Given the description of an element on the screen output the (x, y) to click on. 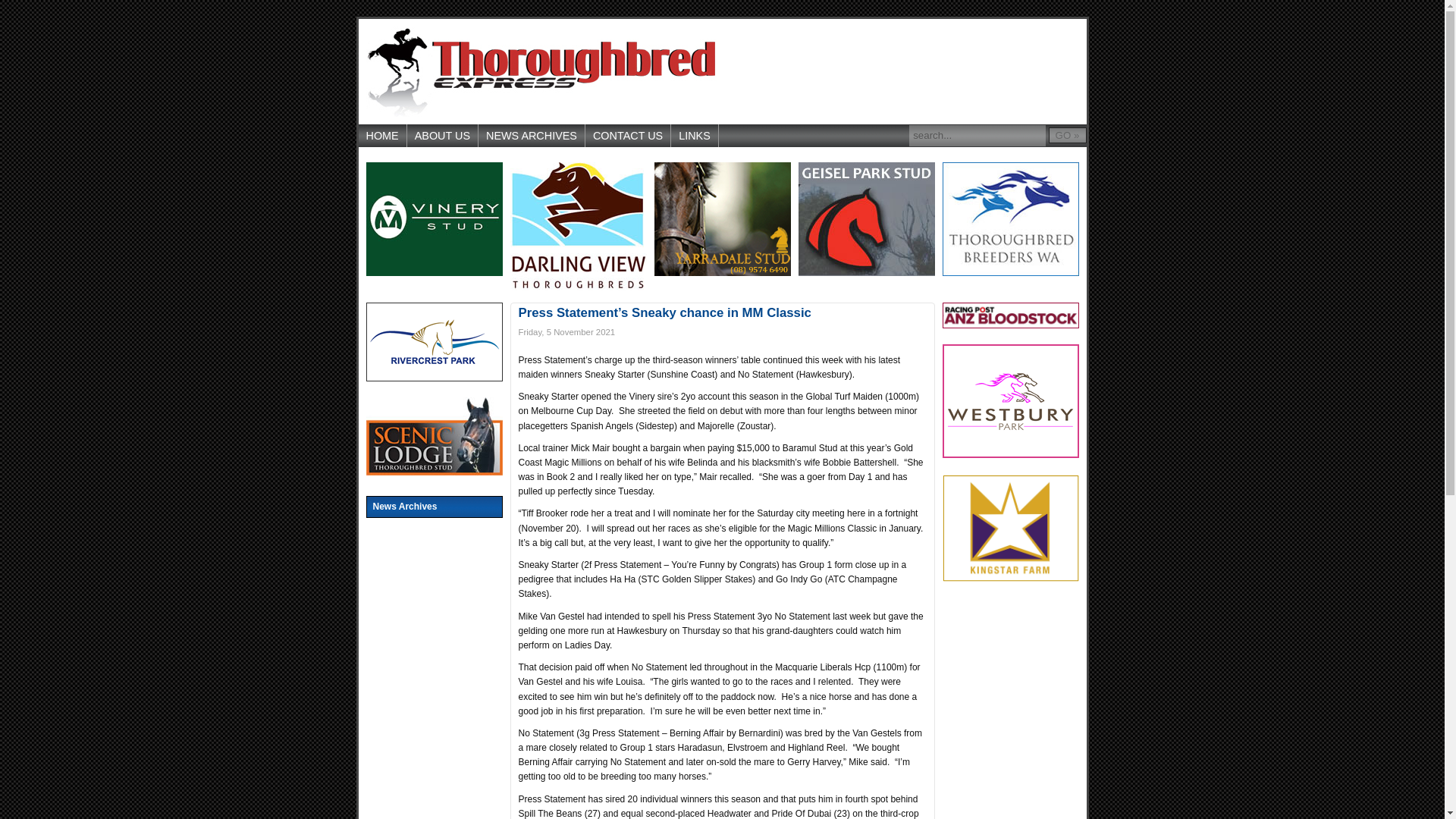
Thoroughbred Express (540, 71)
HOME (382, 135)
Thoroughbred Express (540, 71)
News Archives (433, 506)
ABOUT US (443, 135)
search... (976, 135)
LINKS (695, 135)
NEWS ARCHIVES (532, 135)
CONTACT US (628, 135)
